Given the description of an element on the screen output the (x, y) to click on. 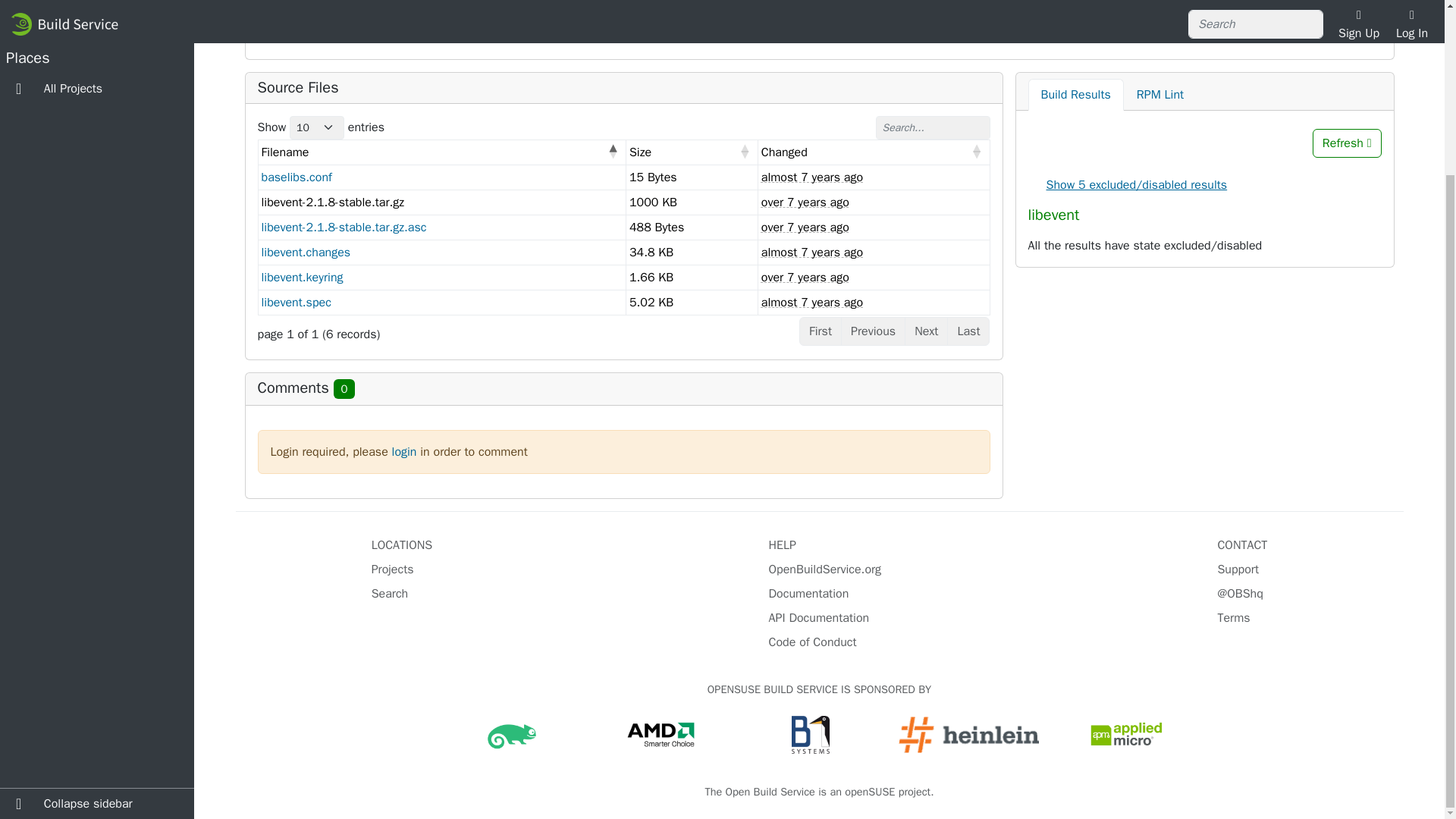
libevent.keyring (301, 277)
baselibs.conf (295, 177)
OpenBuildService.org (825, 569)
libevent.changes (305, 252)
Search (390, 593)
2017-02-20 15:40 UTC (804, 277)
2017-10-02 08:25 UTC (812, 177)
Last (968, 330)
Enabling today. Inspiring tomorrow. (661, 734)
Build the future of ARMv8 on Applied Micro (1126, 734)
Create Badge (1059, 25)
2017-02-20 14:34 UTC (804, 201)
Next (925, 330)
First (820, 330)
libevent.spec (295, 302)
